Given the description of an element on the screen output the (x, y) to click on. 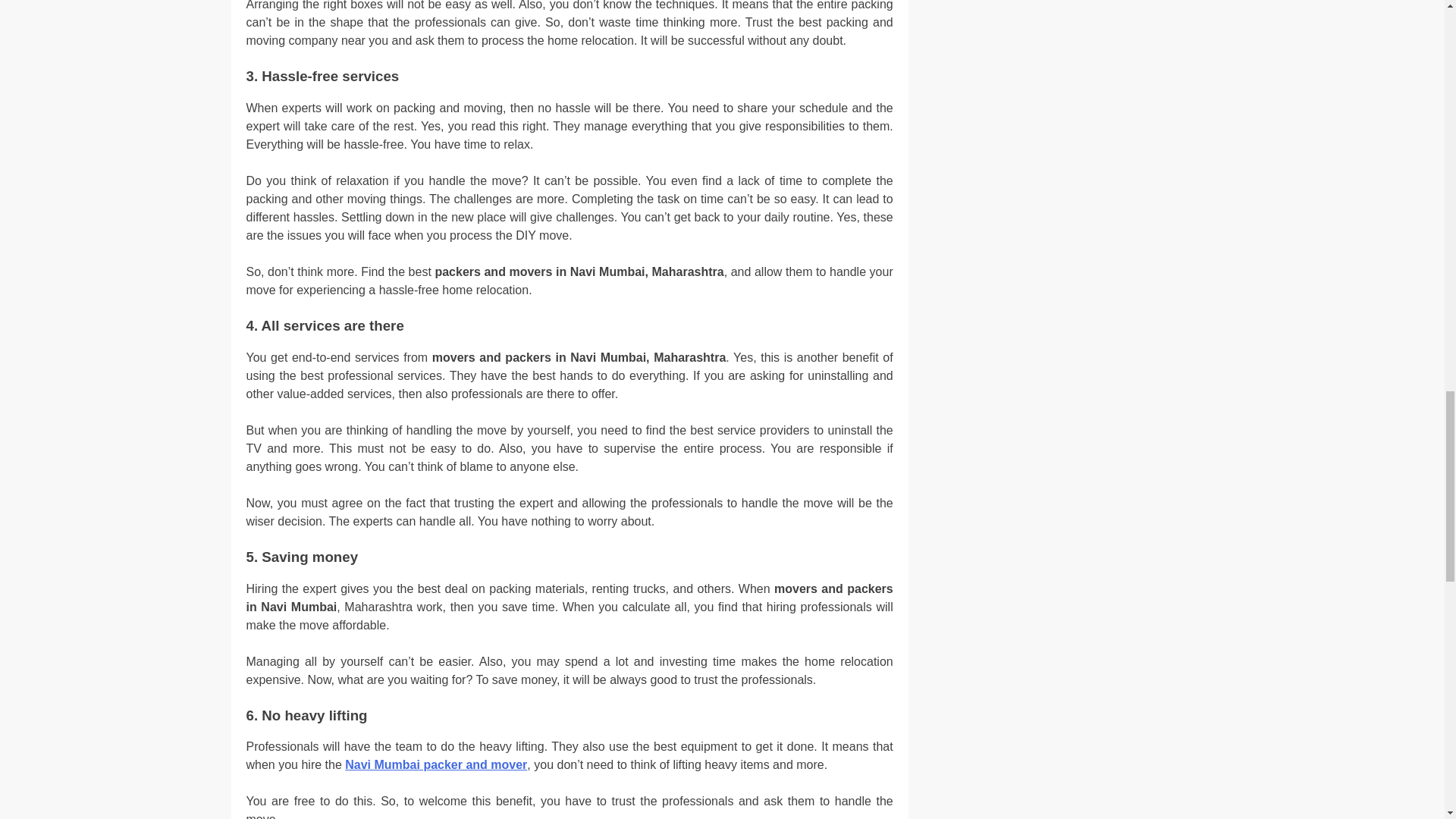
Navi Mumbai packer and mover (436, 764)
